Given the description of an element on the screen output the (x, y) to click on. 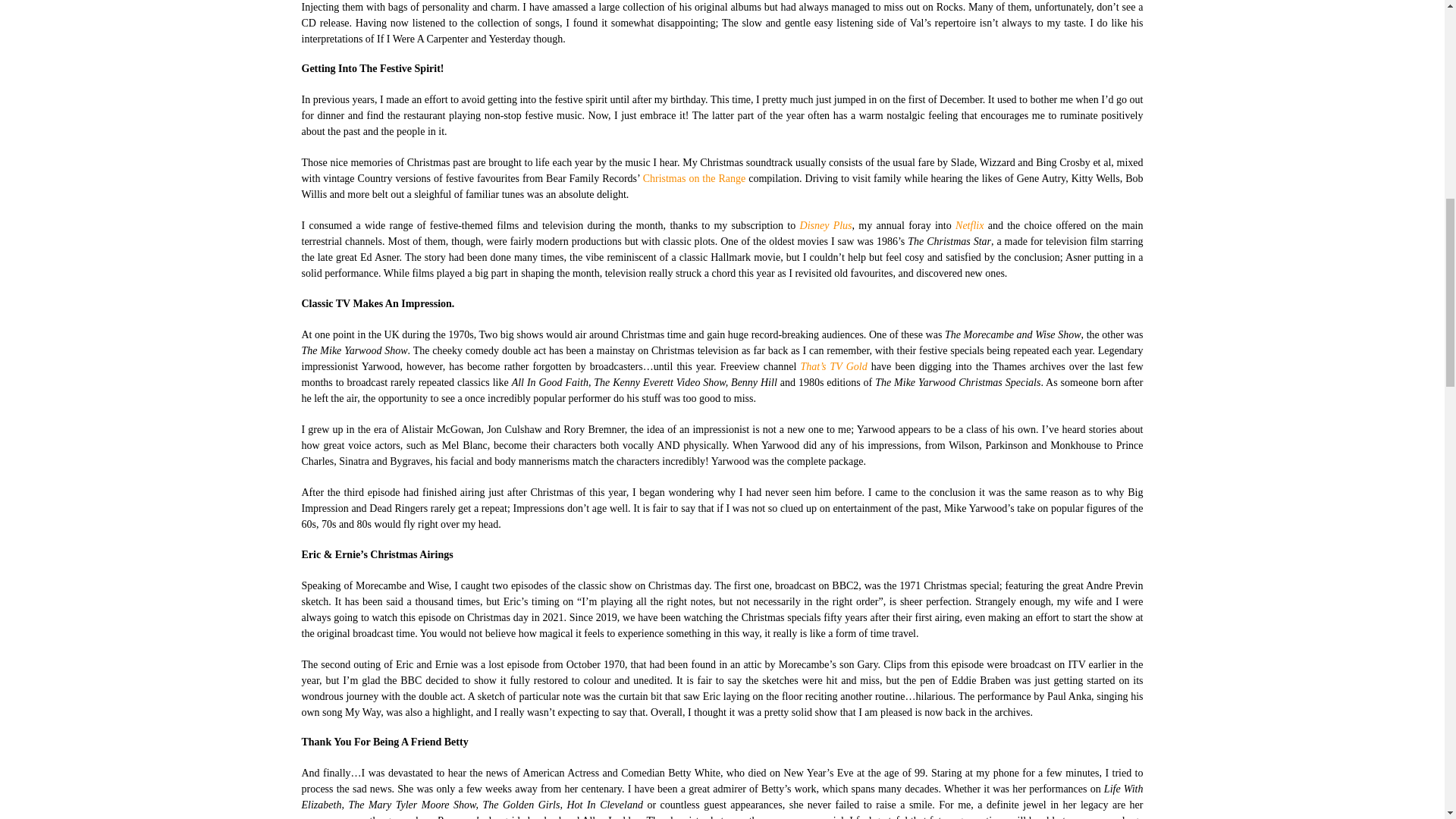
Christmas on the Range (694, 178)
Disney Plus (825, 225)
Netflix (969, 225)
